Given the description of an element on the screen output the (x, y) to click on. 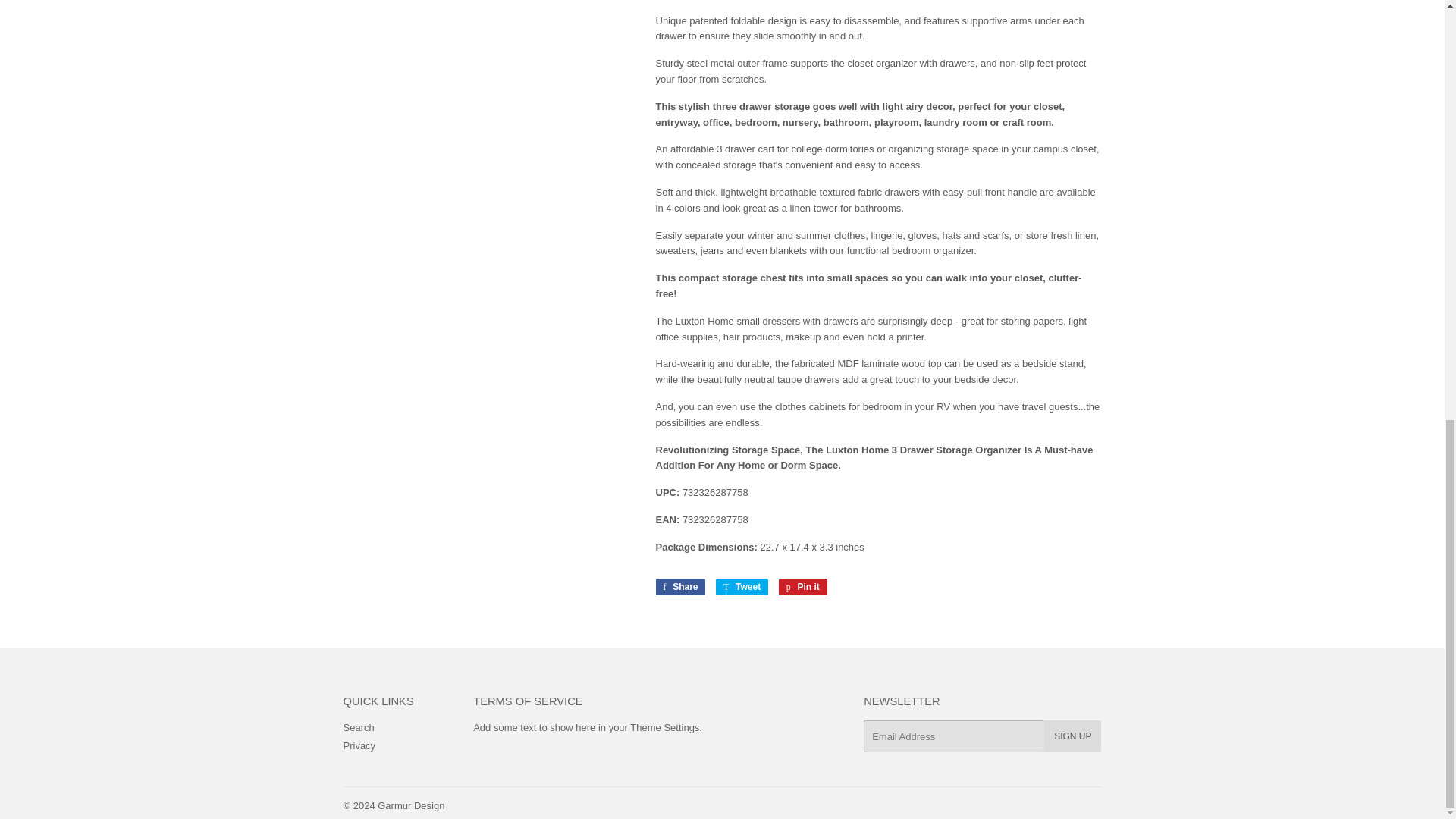
Privacy (358, 745)
Search (358, 727)
Share on Facebook (679, 586)
Tweet on Twitter (742, 586)
SIGN UP (1071, 736)
Pin on Pinterest (802, 586)
Garmur Design (410, 805)
Theme Settings (664, 727)
